Given the description of an element on the screen output the (x, y) to click on. 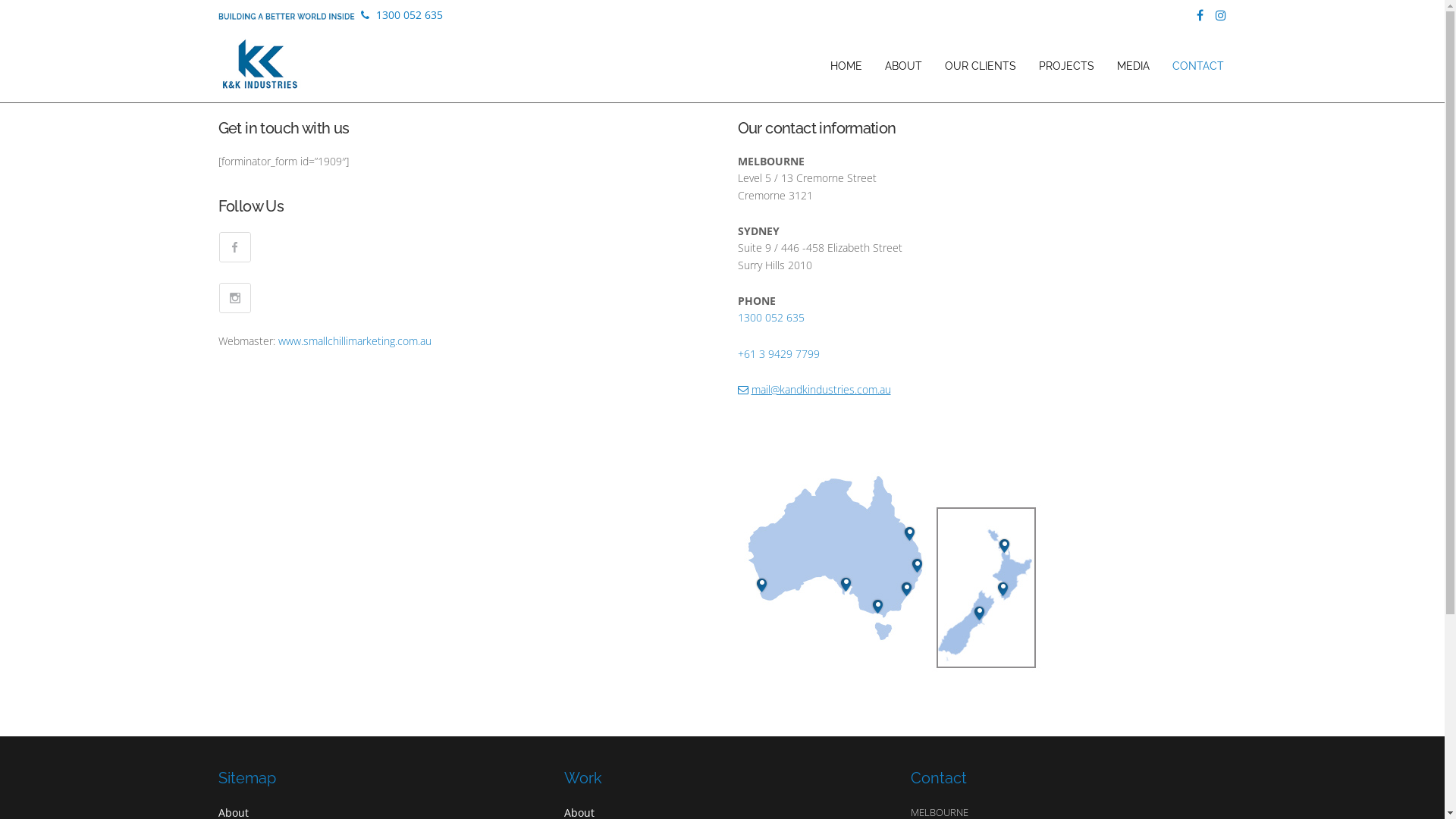
OUR CLIENTS Element type: text (980, 65)
1300 052 635 Element type: text (770, 317)
+61 3 9429 7799 Element type: text (778, 353)
PROJECTS Element type: text (1066, 65)
KK Industries Element type: hover (259, 65)
CONTACT Element type: text (1197, 65)
ABOUT Element type: text (902, 65)
1300 052 635 Element type: text (401, 14)
www.smallchillimarketing.com.au Element type: text (354, 340)
contact-map1 Element type: hover (889, 569)
mail@kandkindustries.com.au Element type: text (813, 389)
HOME Element type: text (845, 65)
MEDIA Element type: text (1132, 65)
